Given the description of an element on the screen output the (x, y) to click on. 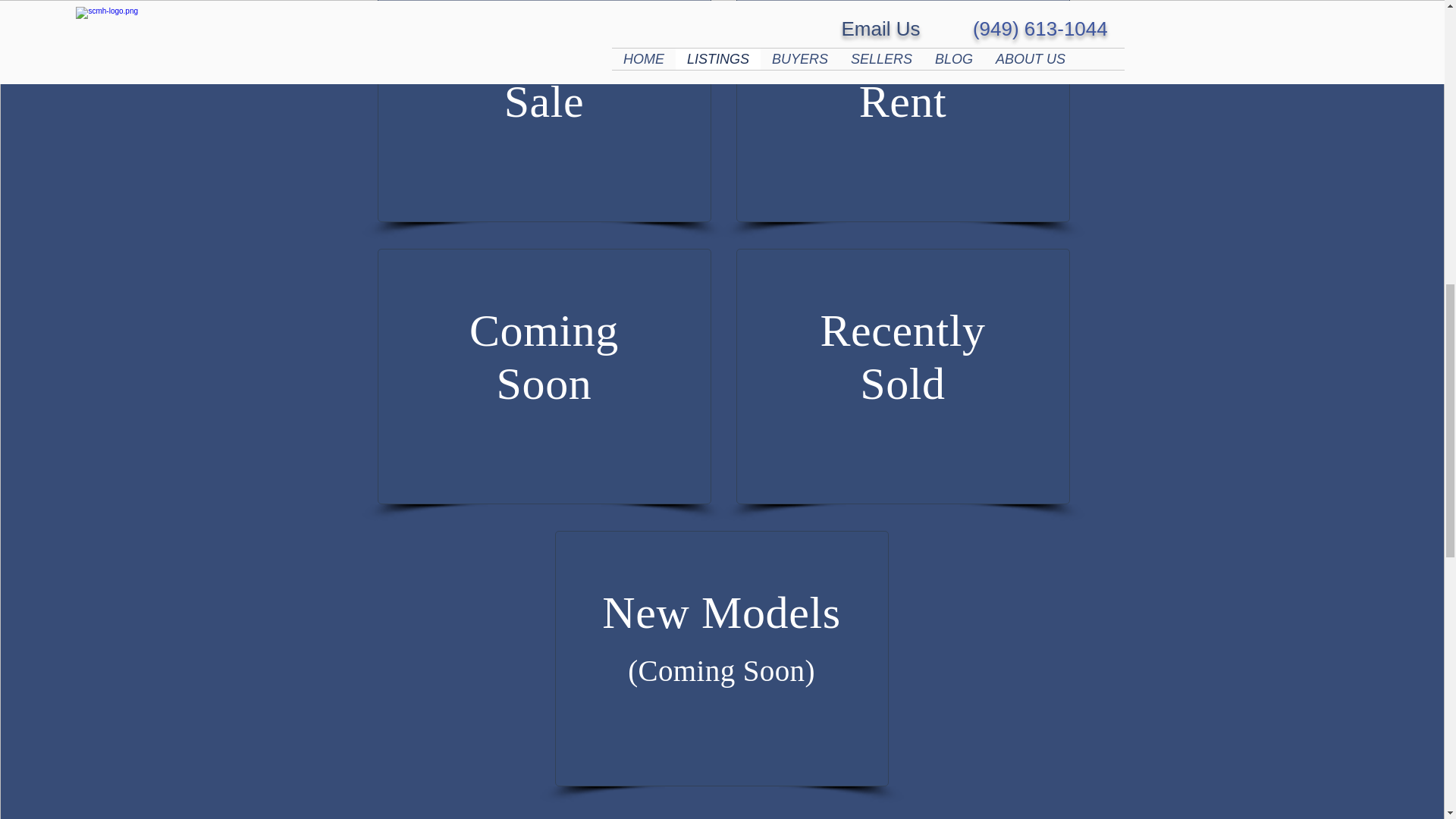
Homes For Sale (543, 356)
Homes For Rent (544, 74)
